Given the description of an element on the screen output the (x, y) to click on. 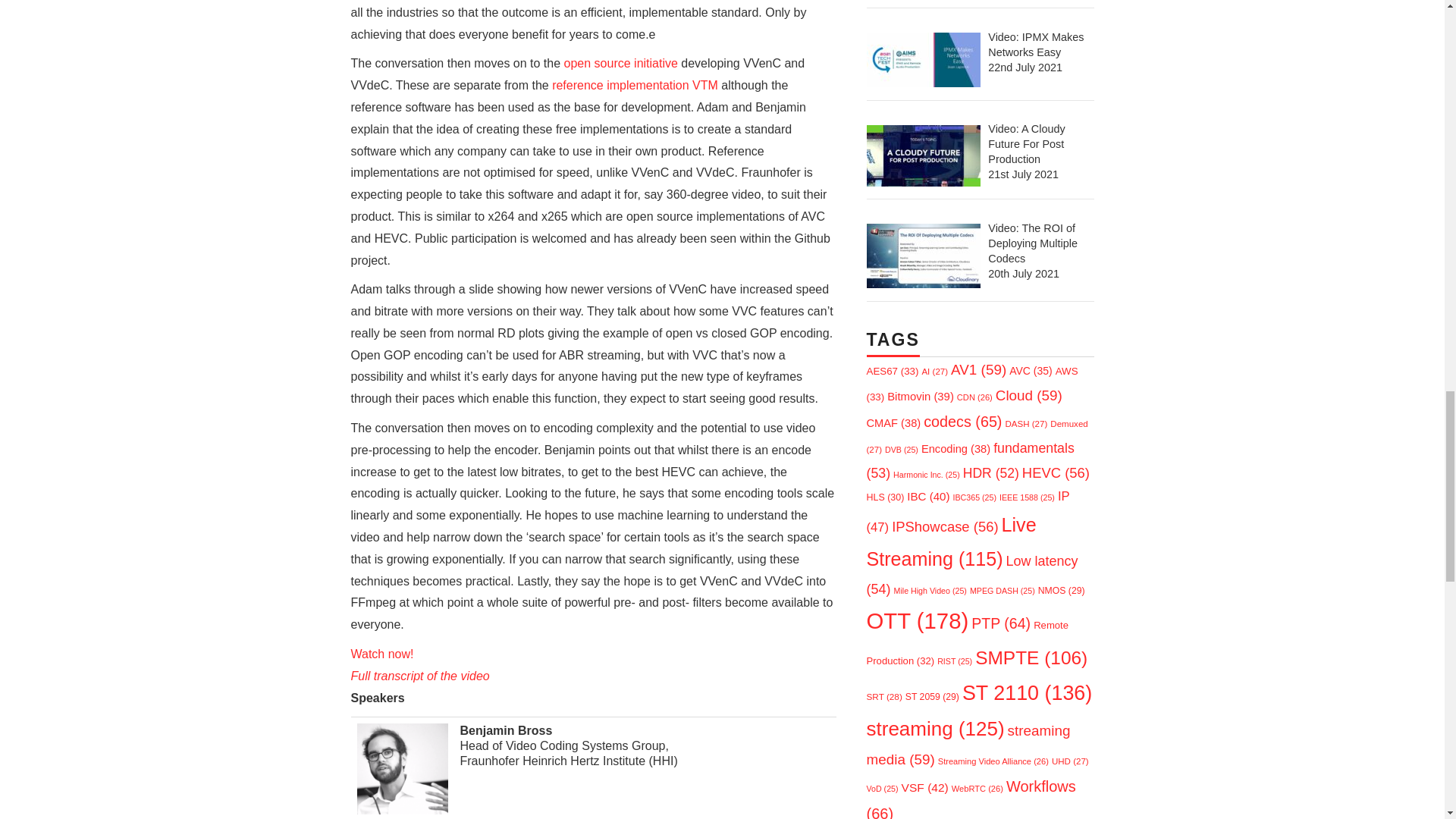
Watch now! (381, 653)
open source initiative (621, 62)
reference implementation VTM (634, 84)
Full transcript of the video (419, 675)
